Given the description of an element on the screen output the (x, y) to click on. 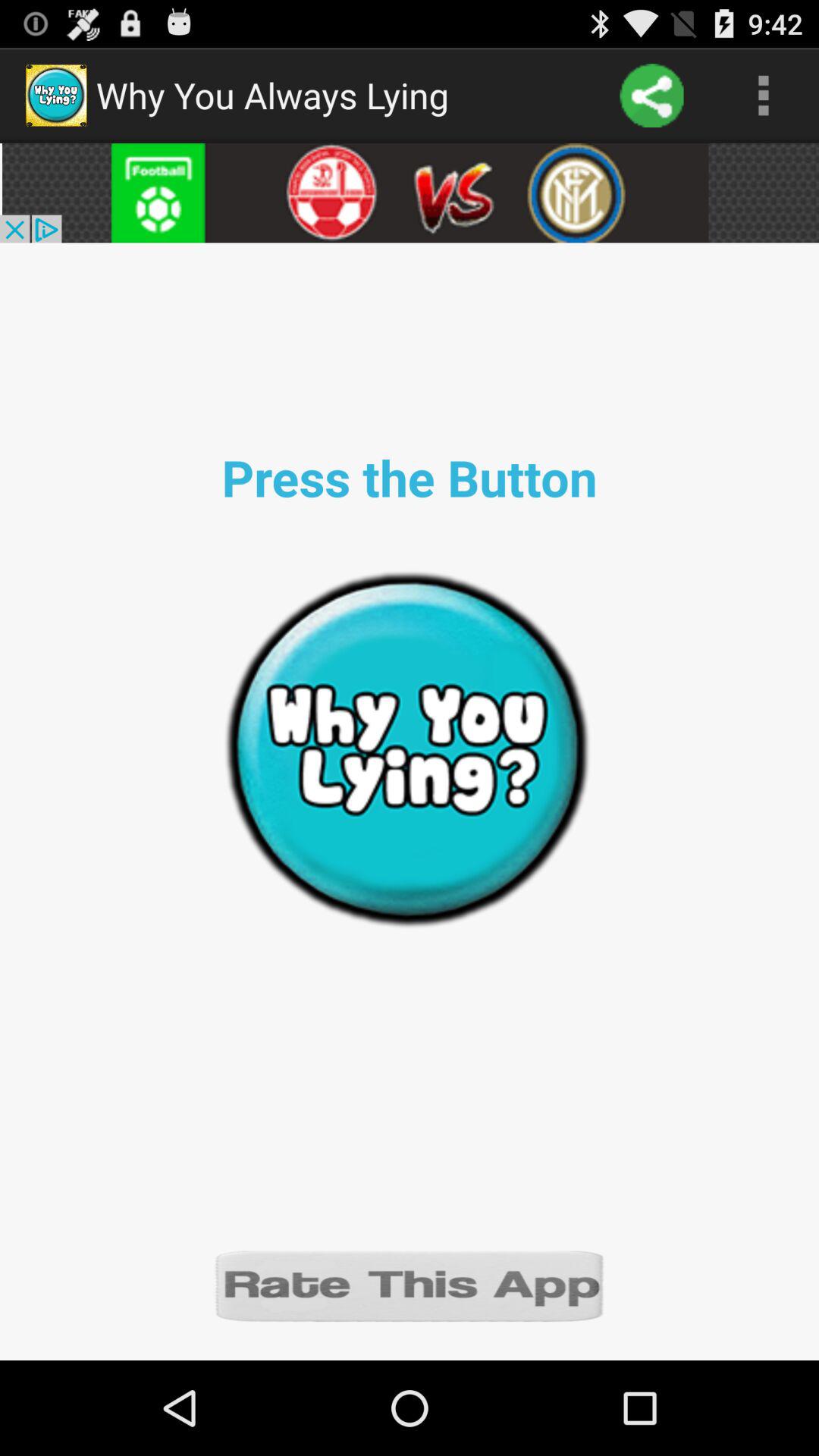
rate this app (409, 1285)
